Given the description of an element on the screen output the (x, y) to click on. 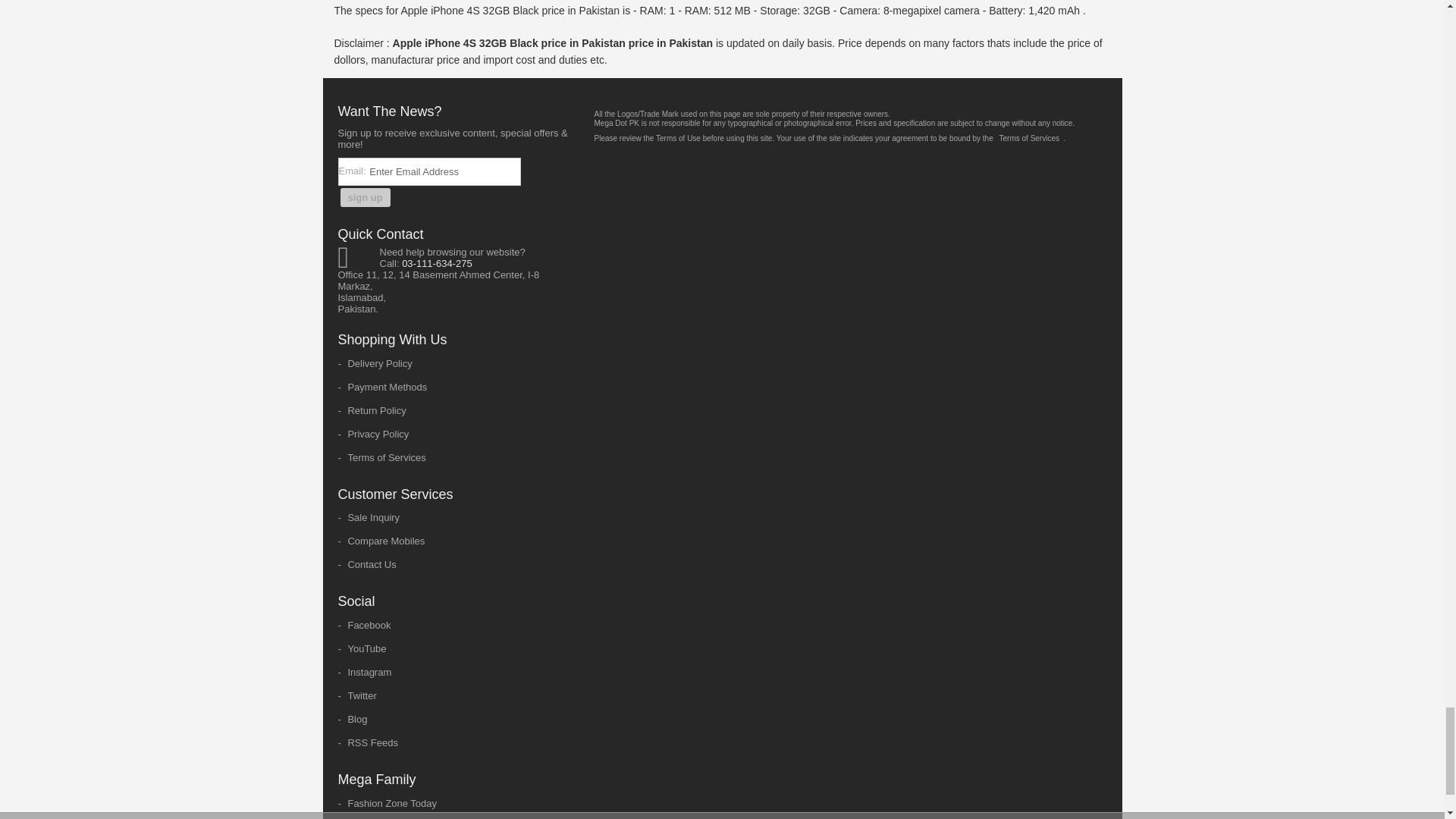
Enter Email Address (443, 171)
